Given the description of an element on the screen output the (x, y) to click on. 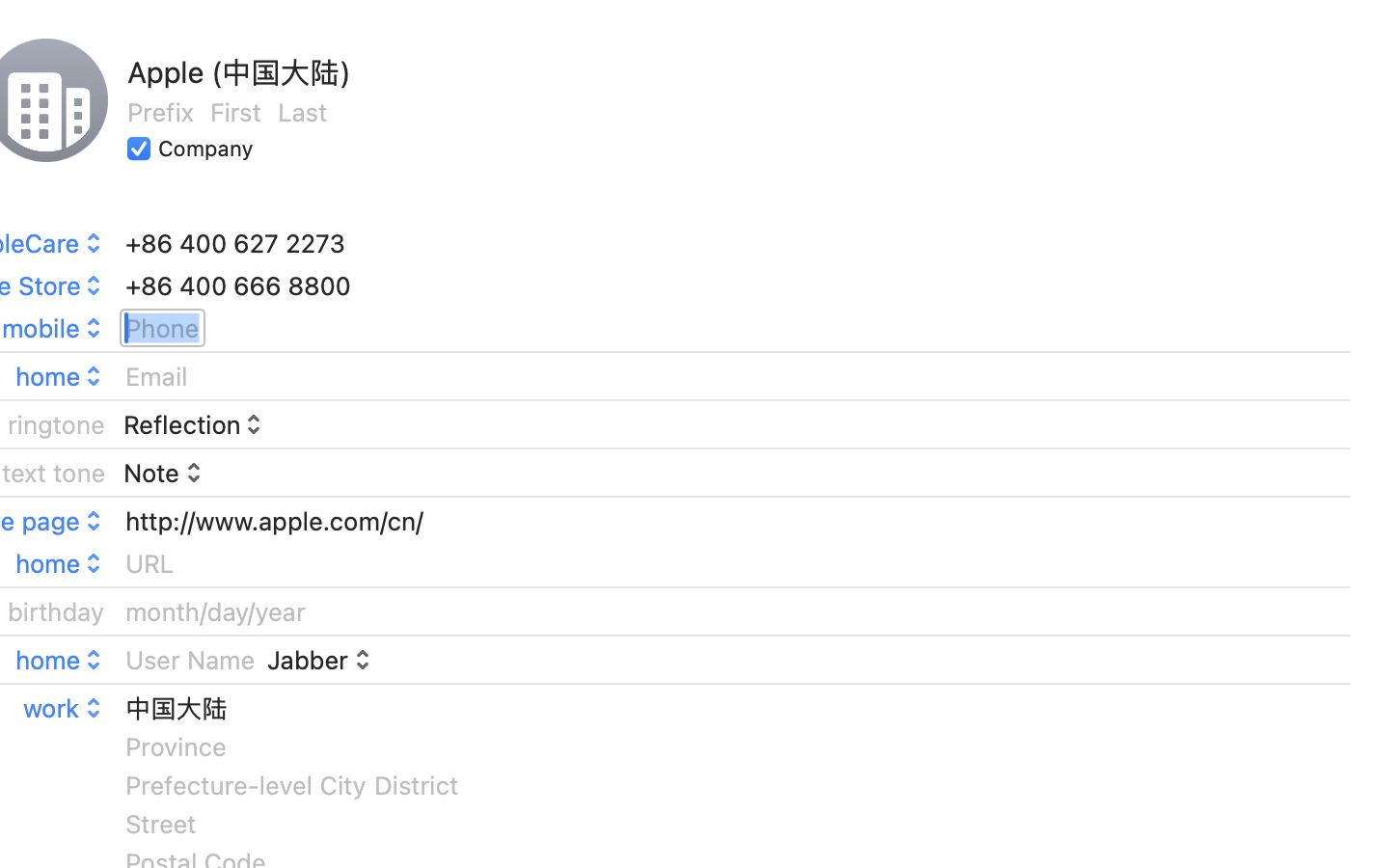
Jabber Element type: AXStaticText (320, 659)
ringtone Element type: AXStaticText (56, 423)
Apple (中国大陆) Element type: AXTextField (238, 72)
birthday Element type: AXStaticText (56, 611)
